Given the description of an element on the screen output the (x, y) to click on. 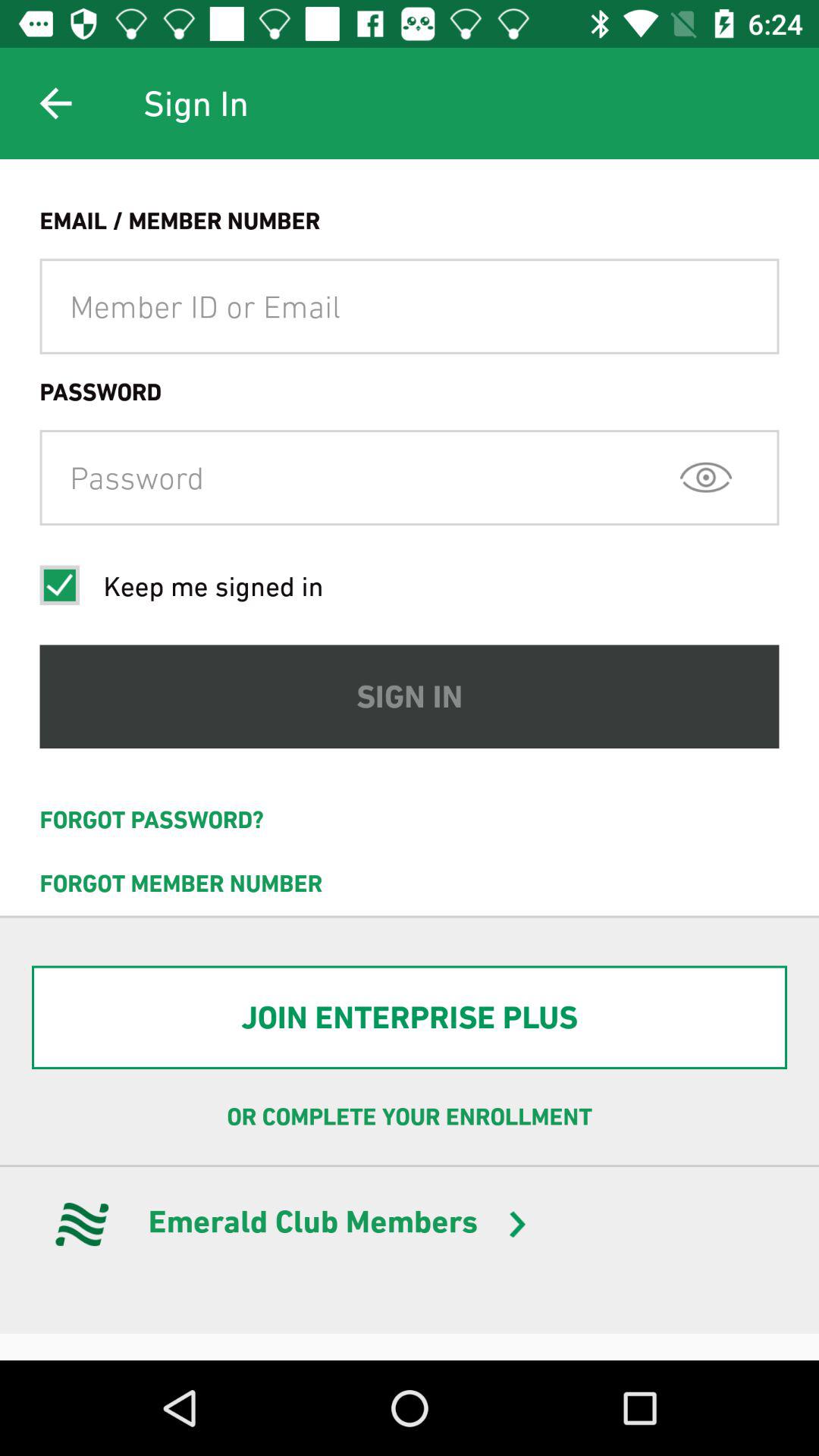
choose the forgot password? (409, 819)
